Given the description of an element on the screen output the (x, y) to click on. 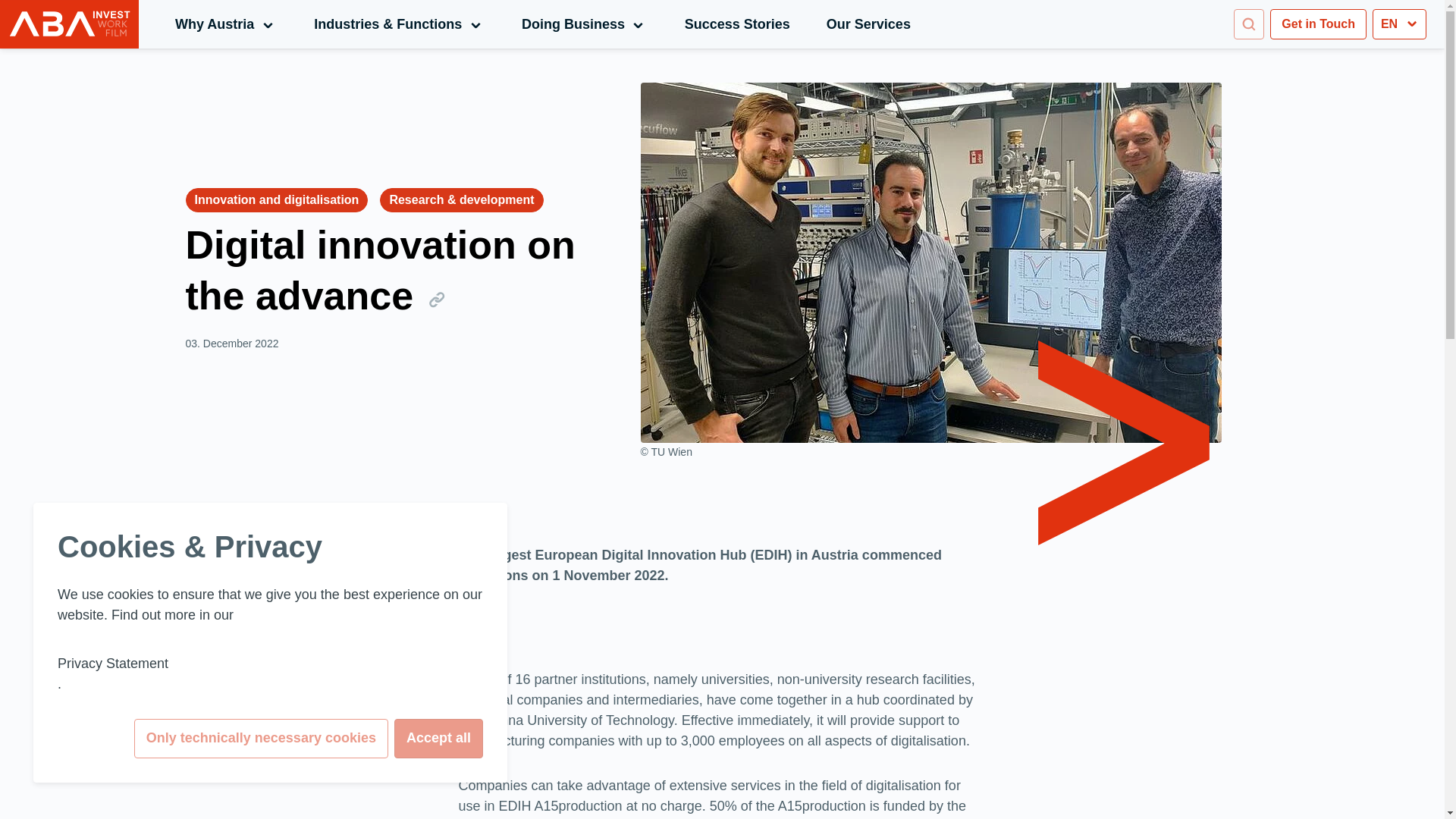
Success Stories (737, 24)
Our Services (869, 24)
SEARCH (584, 24)
Get in Touch (1248, 24)
INVEST in AUSTRIA (1318, 24)
